Given the description of an element on the screen output the (x, y) to click on. 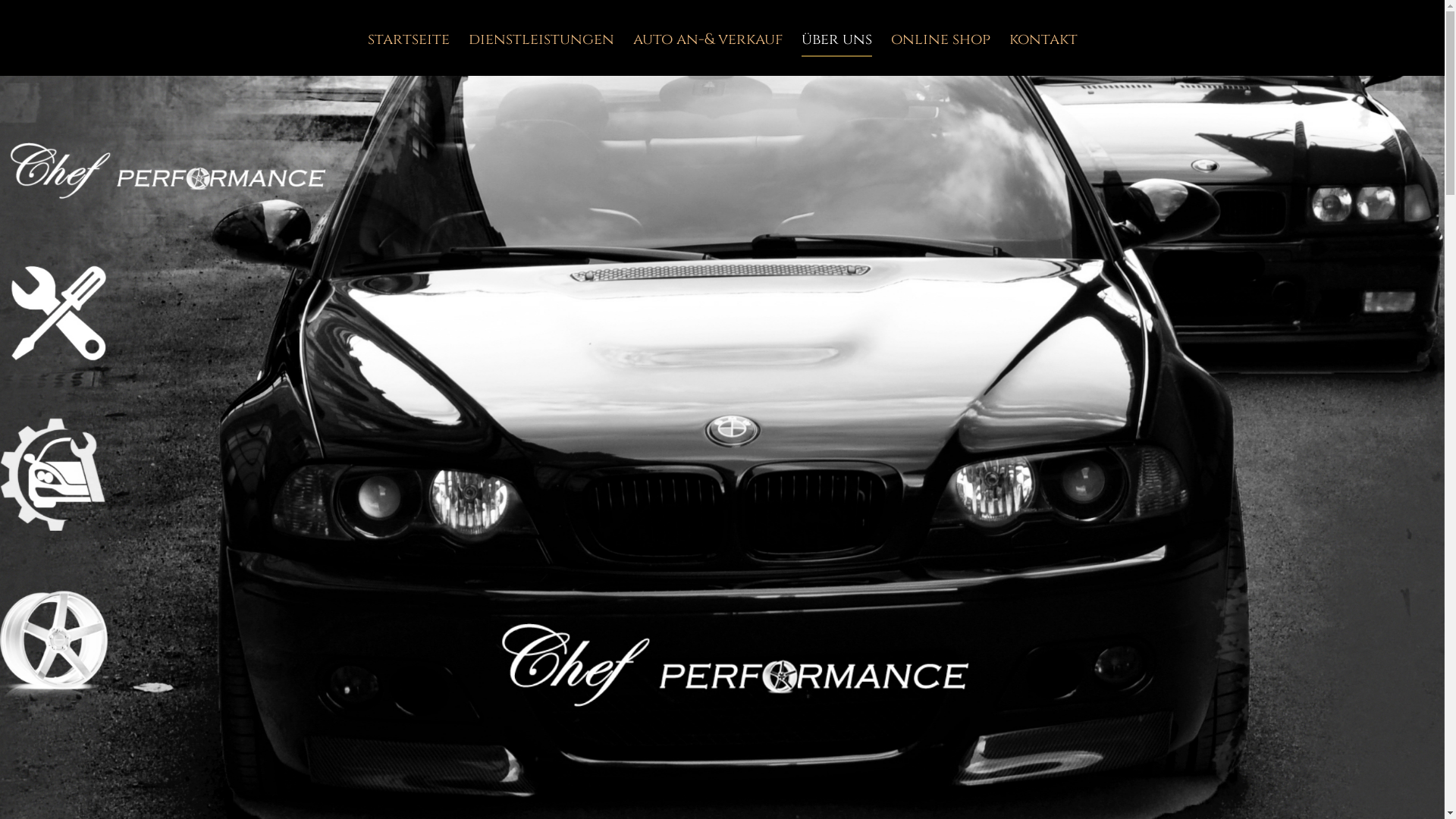
dienstleistungen Element type: text (541, 42)
online shop Element type: text (939, 42)
auto an-& verkauf Element type: text (706, 42)
kontakt Element type: text (1042, 42)
startseite Element type: text (407, 42)
